Given the description of an element on the screen output the (x, y) to click on. 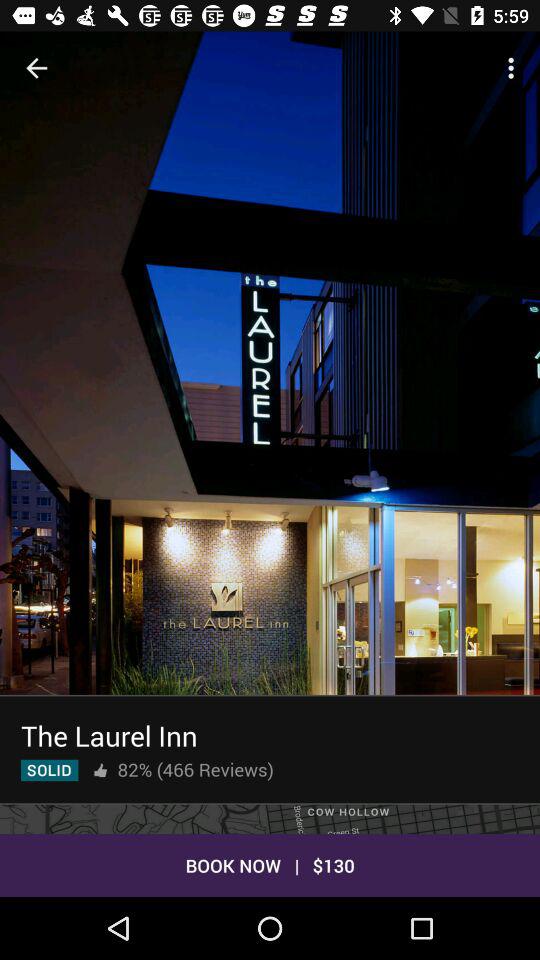
open item next to 82% (466 reviews) icon (100, 770)
